Given the description of an element on the screen output the (x, y) to click on. 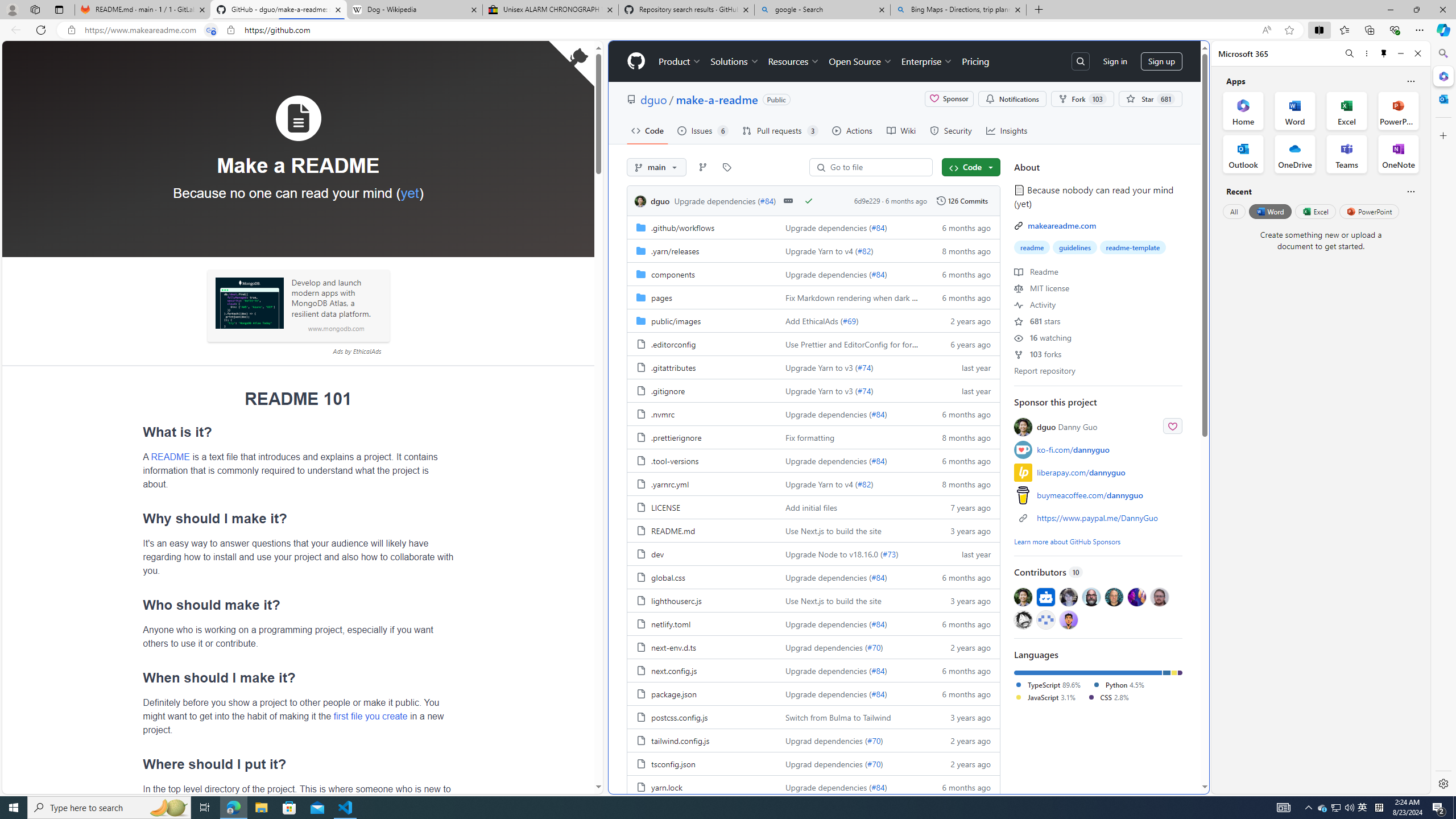
Switch from Bulma to Tailwind (849, 716)
@mstrzele (1045, 619)
.nvmrc, (File) (701, 413)
7 years ago (961, 506)
Excel (1315, 210)
Switch from Bulma to Tailwind (837, 717)
AutomationID: folder-row-22 (813, 739)
Product (679, 60)
Product (679, 60)
AutomationID: folder-row-9 (813, 436)
.prettierignore, (File) (675, 437)
next.config.js, (File) (673, 670)
